Given the description of an element on the screen output the (x, y) to click on. 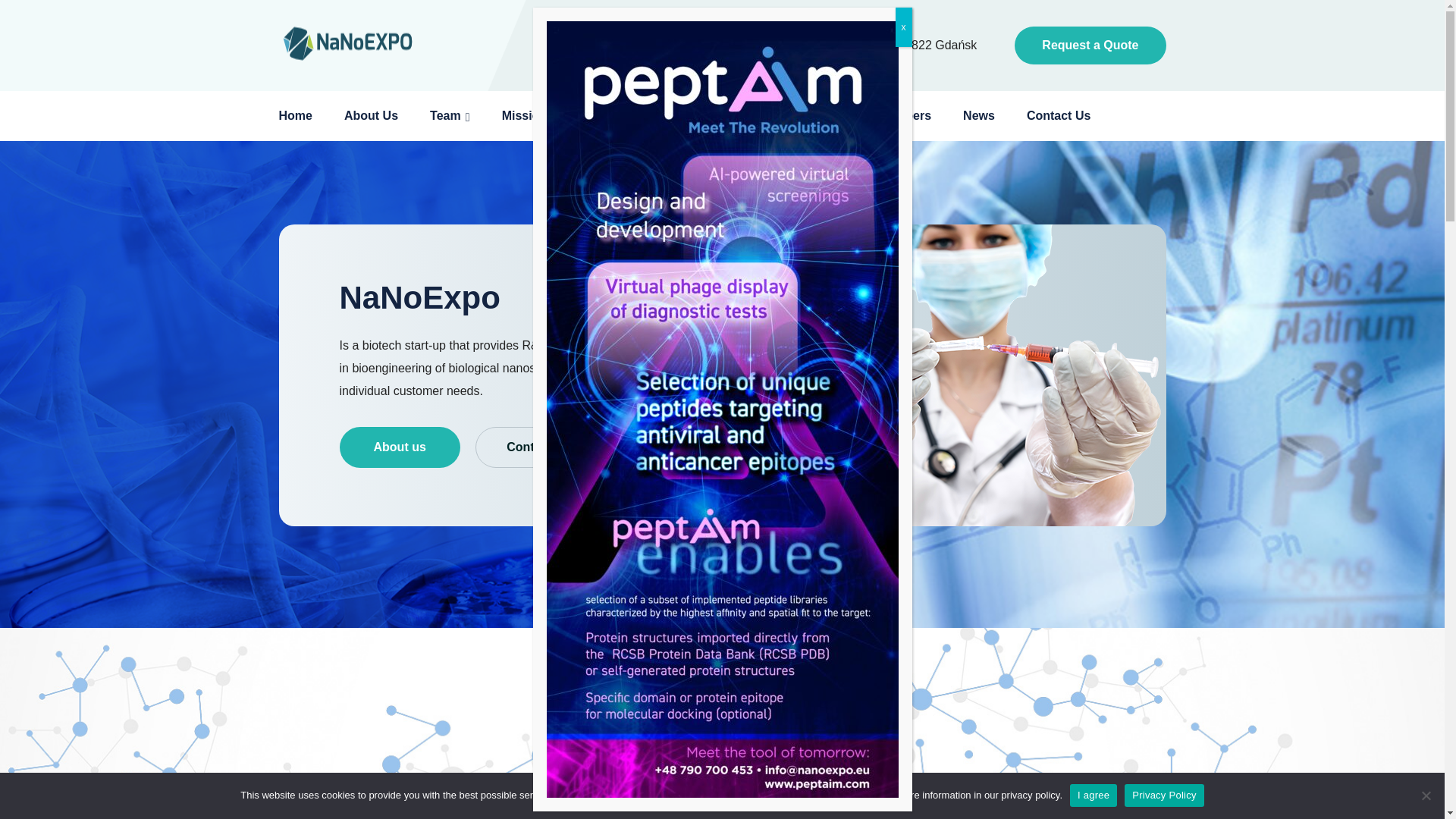
Products (691, 115)
Mission (529, 115)
Home (300, 115)
Research (776, 115)
Contact Us (1062, 115)
News (983, 115)
Services (607, 115)
Request a Quote (1090, 45)
About Us (375, 115)
Team (449, 115)
